Given the description of an element on the screen output the (x, y) to click on. 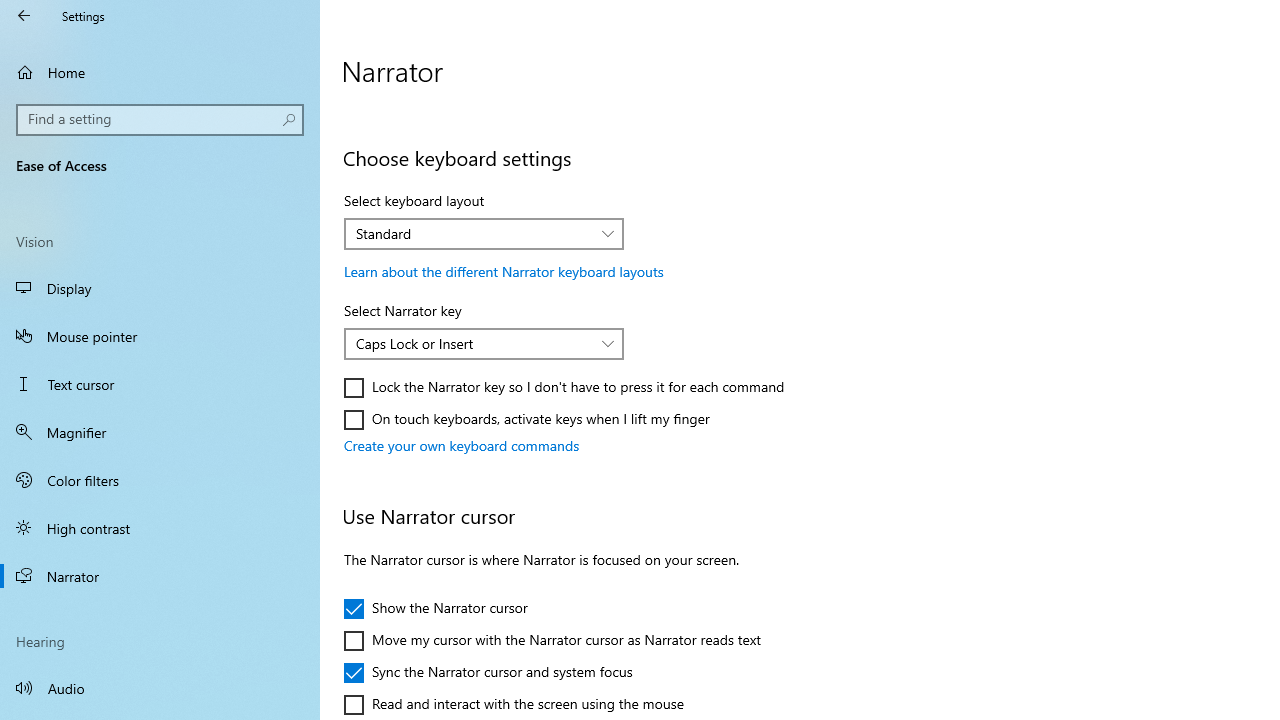
Select Narrator key (484, 344)
Display (160, 287)
Learn about the different Narrator keyboard layouts (504, 271)
Hear arrow, Tab, and other navigation keys as you type (527, 12)
Sync the Narrator cursor and system focus (488, 672)
Home (160, 71)
Create your own keyboard commands (461, 445)
Hear Shift, Alt, and other modifier keys as you type (515, 84)
Search box, Find a setting (160, 119)
Back (24, 15)
Caps Lock or Insert (473, 343)
Select keyboard layout (484, 233)
Standard (473, 233)
Narrator (160, 575)
